Given the description of an element on the screen output the (x, y) to click on. 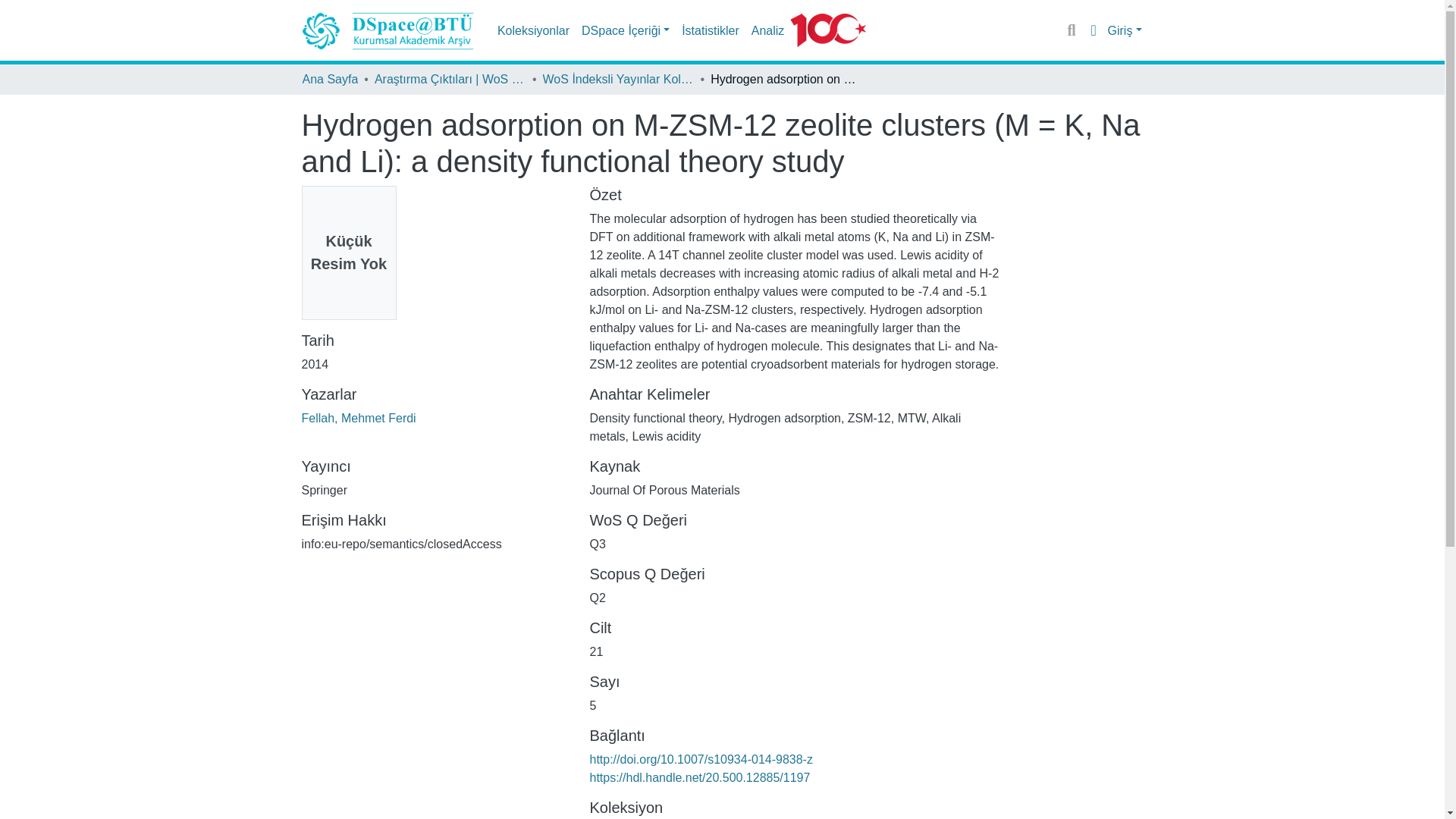
Koleksiyonlar (533, 30)
Fellah, Mehmet Ferdi (358, 418)
Analiz (767, 30)
Ana Sayfa (329, 79)
Koleksiyonlar (533, 30)
Ara (1071, 30)
